Given the description of an element on the screen output the (x, y) to click on. 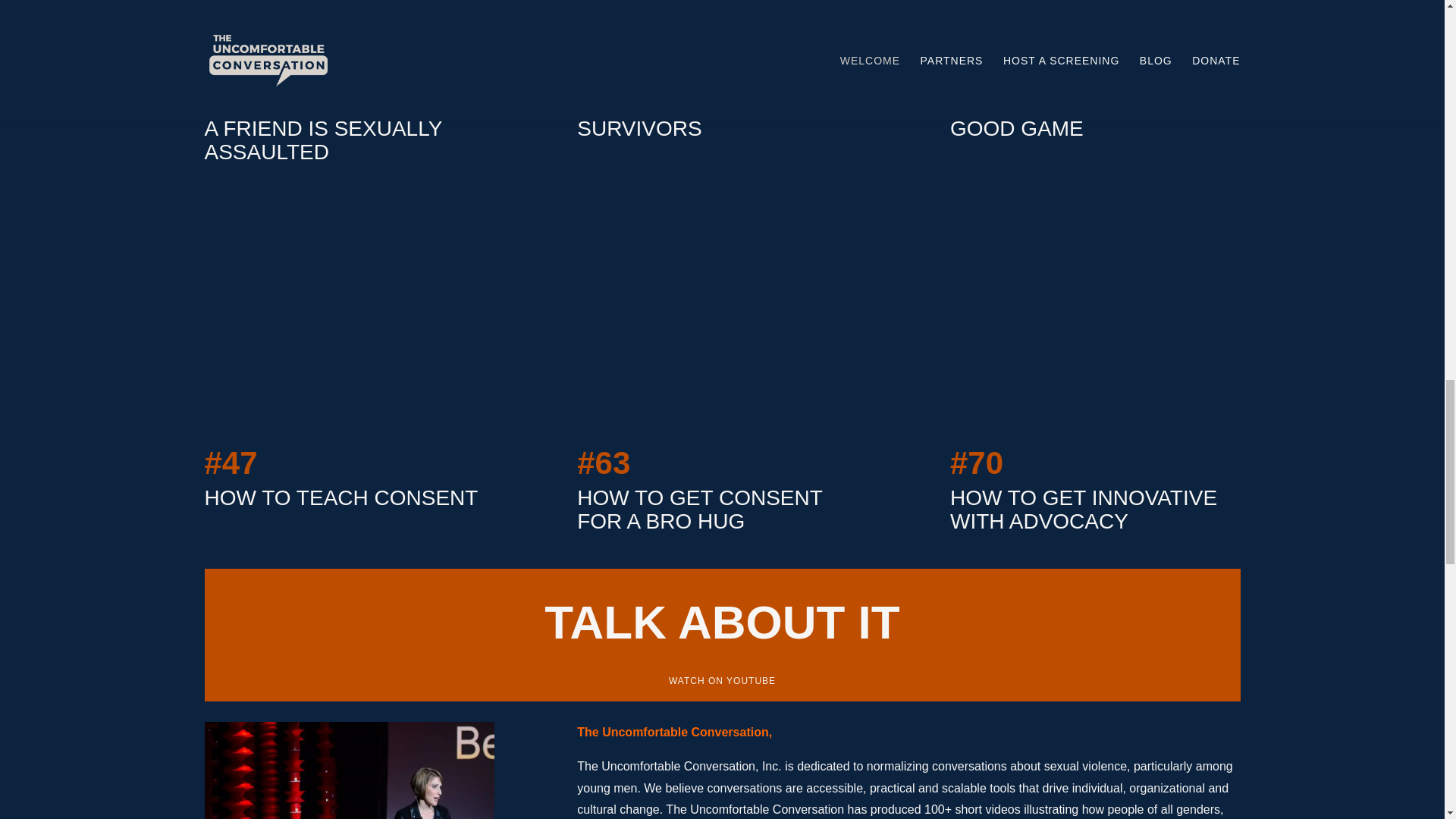
How to Get Consent for a Bro Hug (721, 323)
How to Teach Consent (350, 323)
56 How to Get Innovative With Advocacy (1095, 323)
WATCH ON YOUTUBE (722, 681)
